Given the description of an element on the screen output the (x, y) to click on. 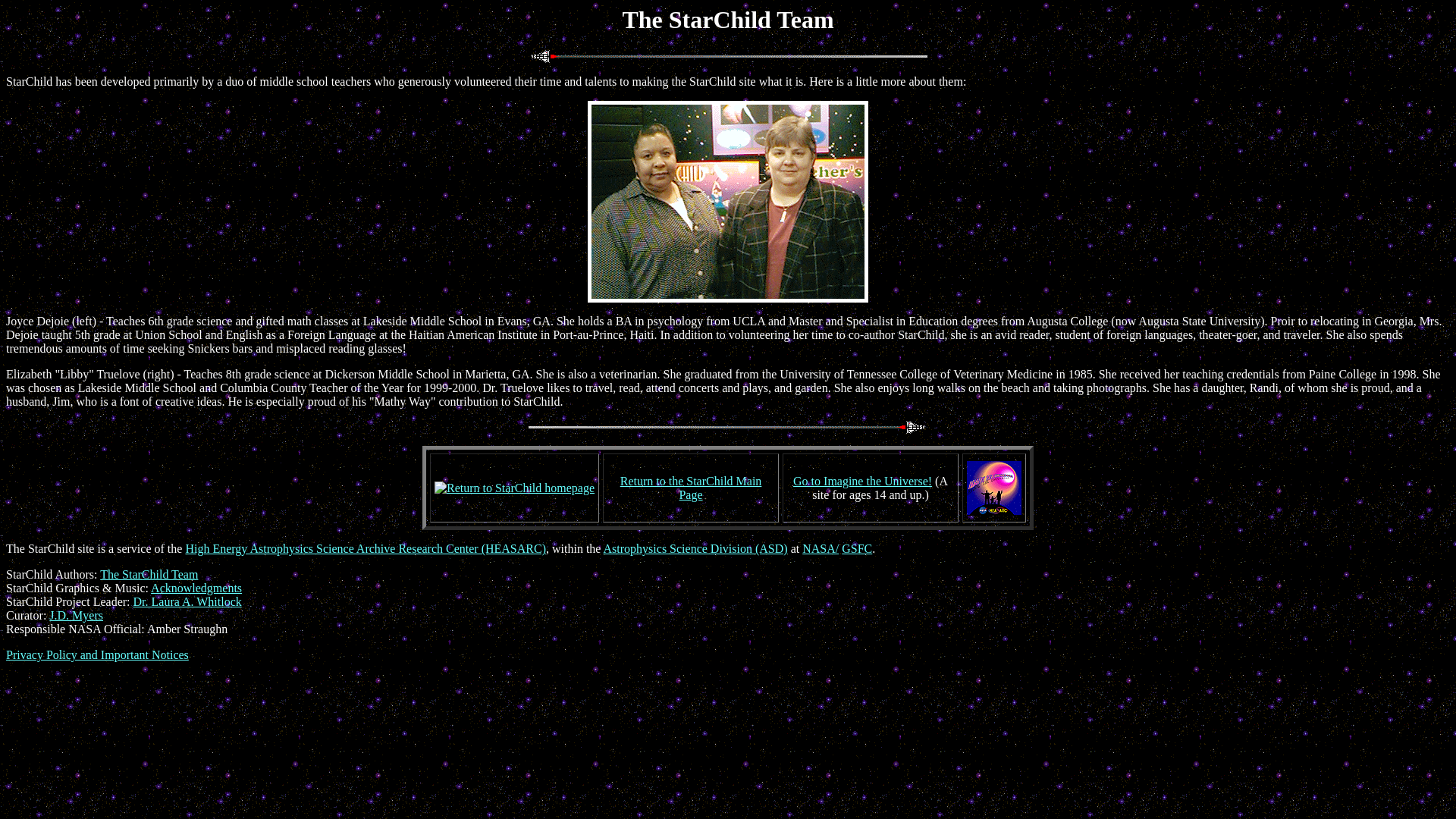
J.D. Myers (76, 615)
Go to Imagine the Universe! (862, 481)
Privacy Policy and Important Notices (97, 654)
Acknowledgments (196, 587)
GSFC (856, 548)
Dr. Laura A. Whitlock (187, 601)
The StarChild Team (149, 574)
Return to the StarChild Main Page (690, 488)
